Given the description of an element on the screen output the (x, y) to click on. 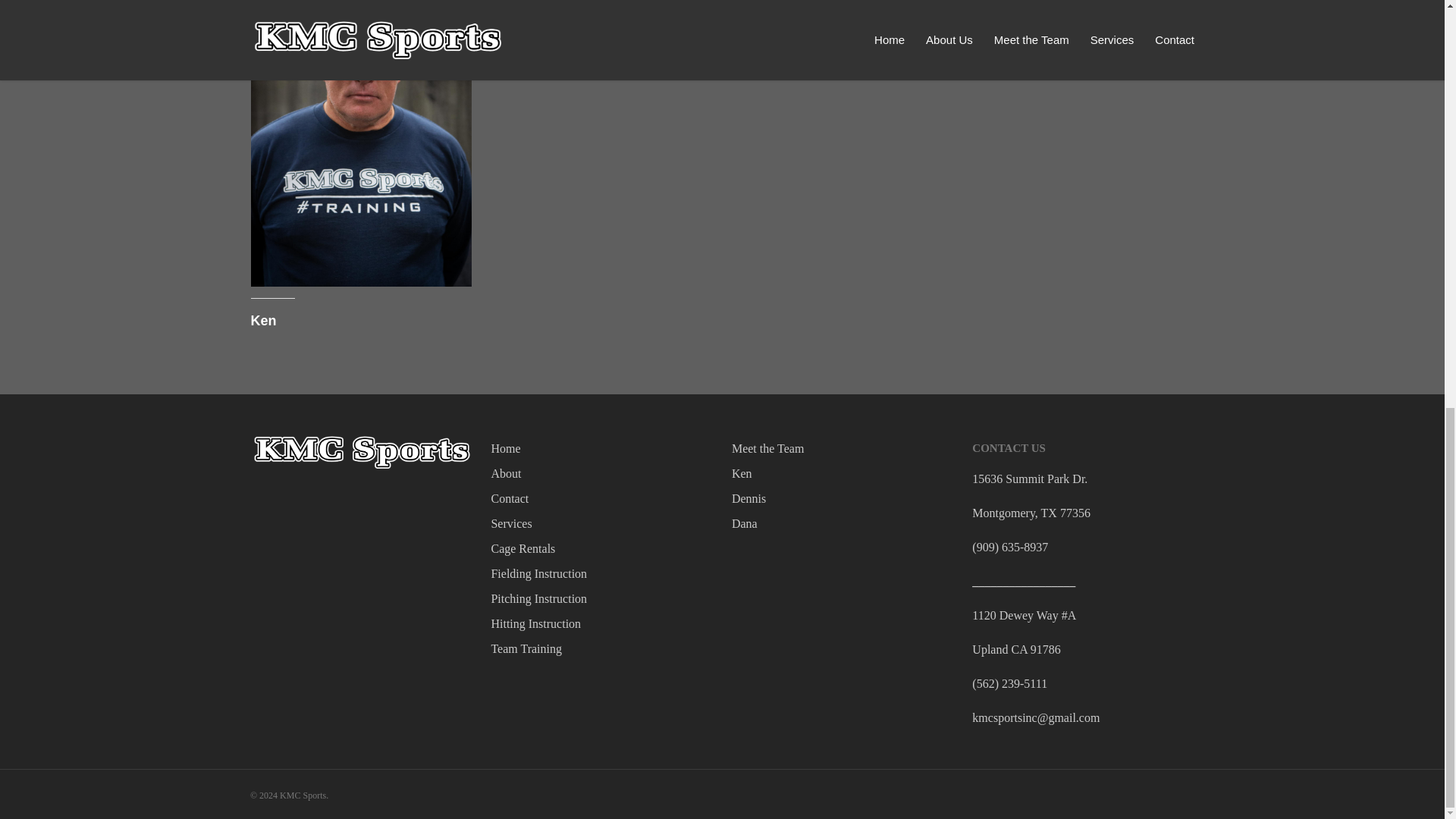
About (601, 473)
Pitching Instruction (601, 598)
Ken (842, 473)
Dennis (842, 497)
Fielding Instruction (601, 573)
Dana (842, 523)
Services (601, 523)
Home (601, 447)
Meet the Team (842, 447)
Ken (263, 320)
